Given the description of an element on the screen output the (x, y) to click on. 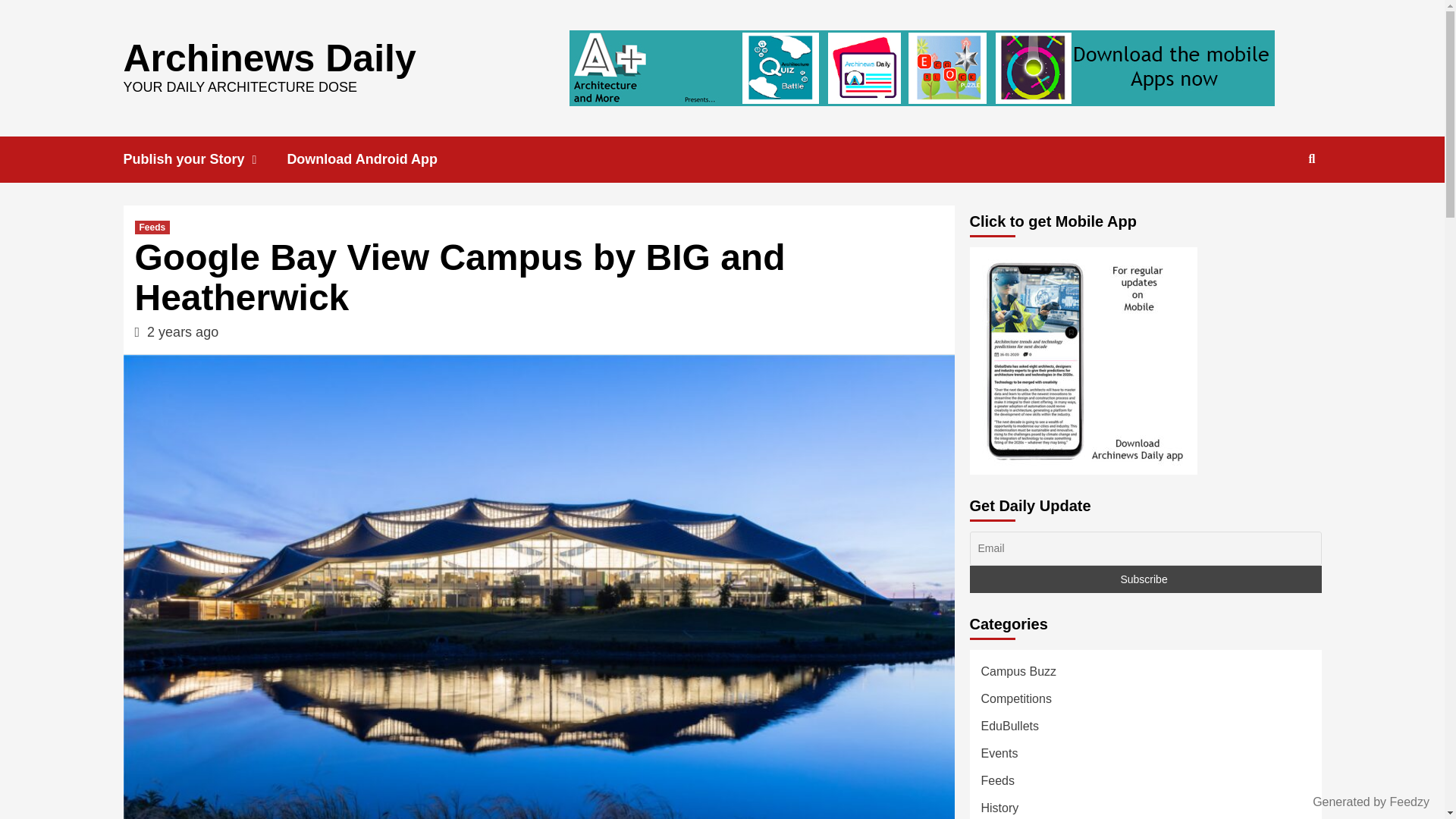
Subscribe  (1144, 578)
Feeds (152, 227)
Download Android App (373, 159)
Archinews Daily (268, 57)
Search (1312, 158)
Click to get Mobile App (1082, 361)
2 years ago (182, 331)
Search (1276, 207)
Publish your Story (204, 159)
